Given the description of an element on the screen output the (x, y) to click on. 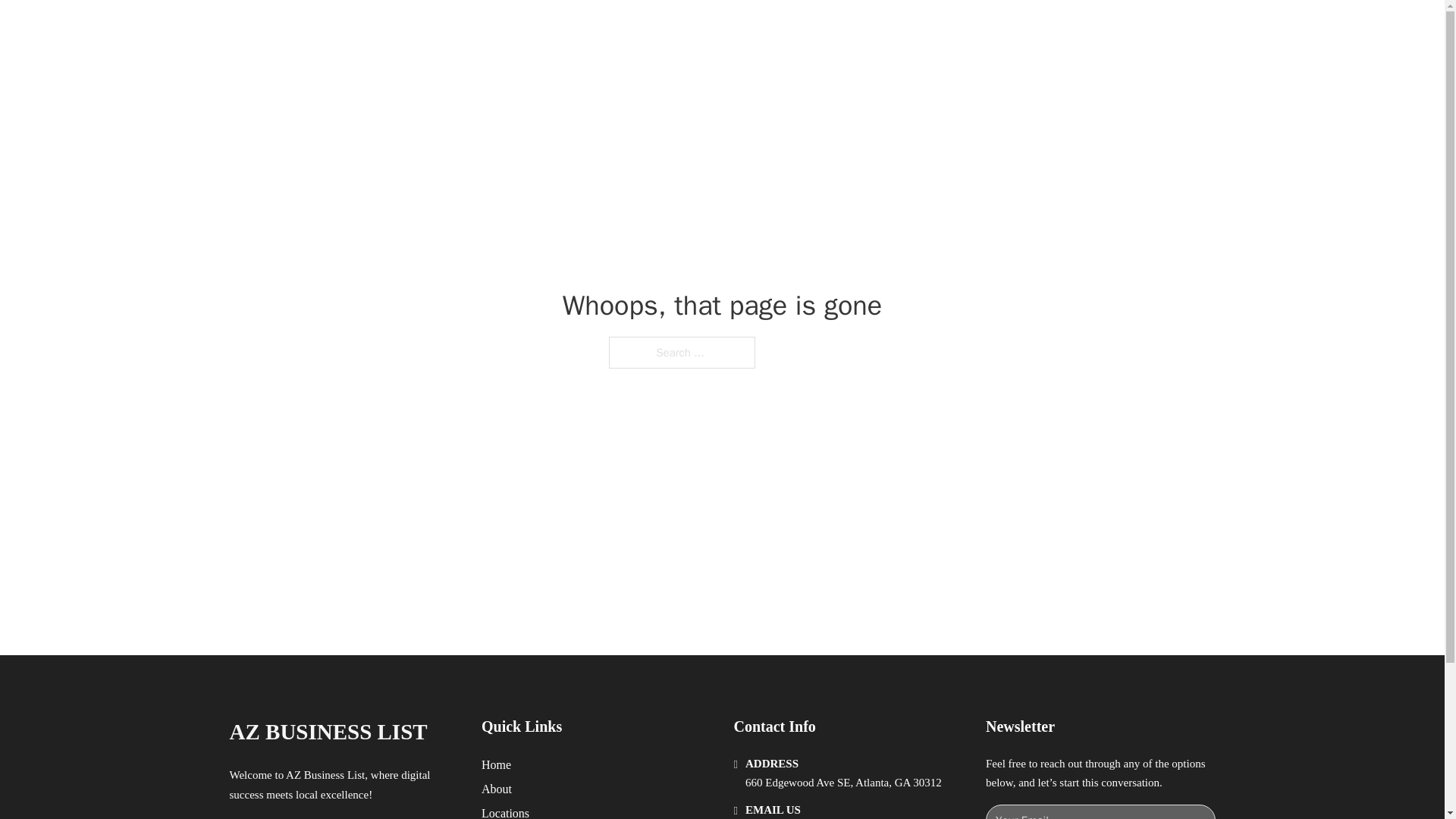
Locations (505, 811)
Home (496, 764)
HOME (919, 29)
AZ BUSINESS LIST (327, 732)
AZ BUSINESS LIST (403, 28)
LOCATIONS (990, 29)
About (496, 788)
